Given the description of an element on the screen output the (x, y) to click on. 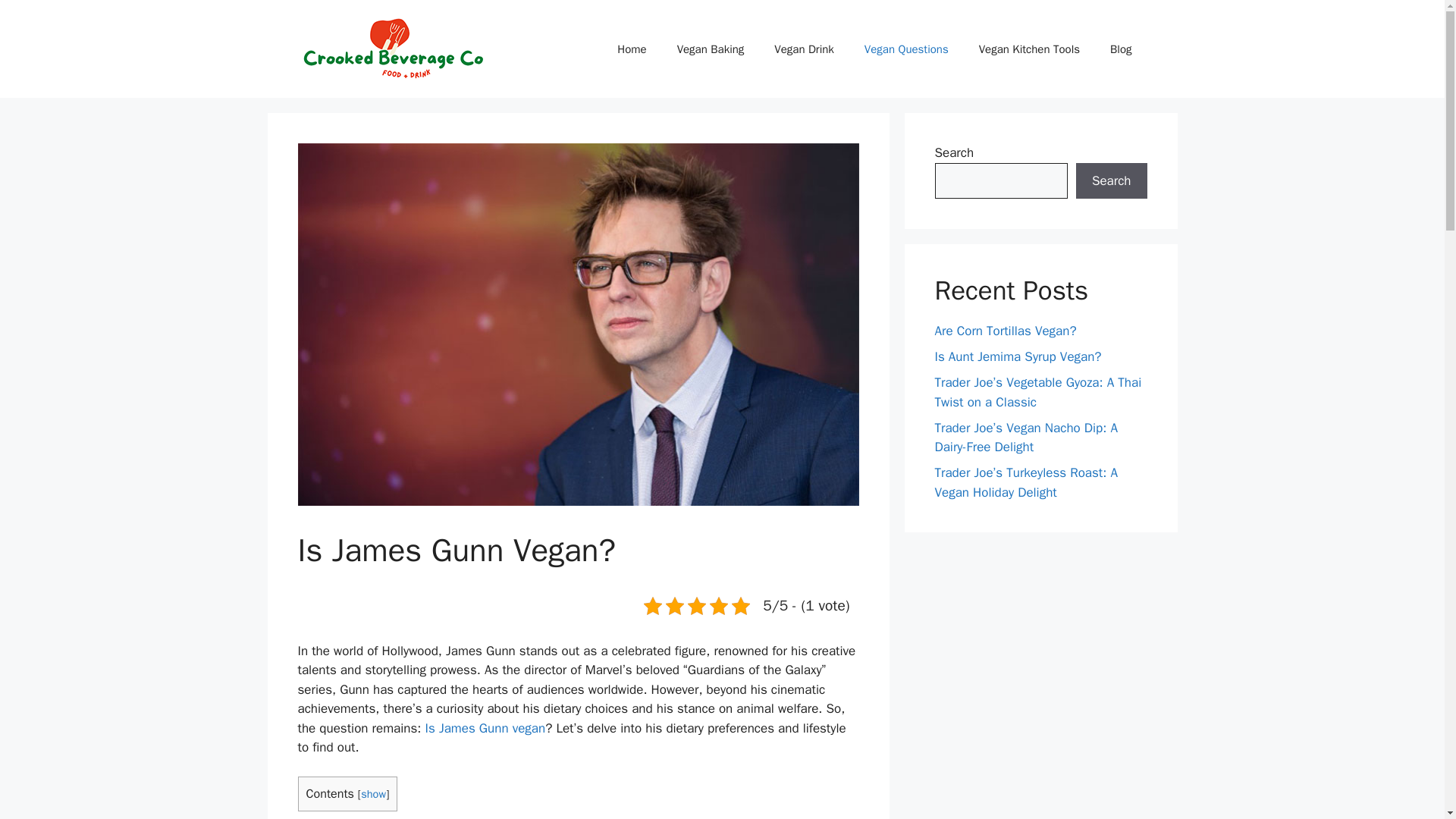
Are Corn Tortillas Vegan? (1004, 330)
Search (1111, 180)
Vegan Drink (803, 48)
Home (631, 48)
Vegan Questions (905, 48)
show (373, 793)
Is James Gunn vegan (485, 728)
Vegan Kitchen Tools (1028, 48)
Is Aunt Jemima Syrup Vegan? (1017, 356)
Vegan Baking (711, 48)
Blog (1120, 48)
